Given the description of an element on the screen output the (x, y) to click on. 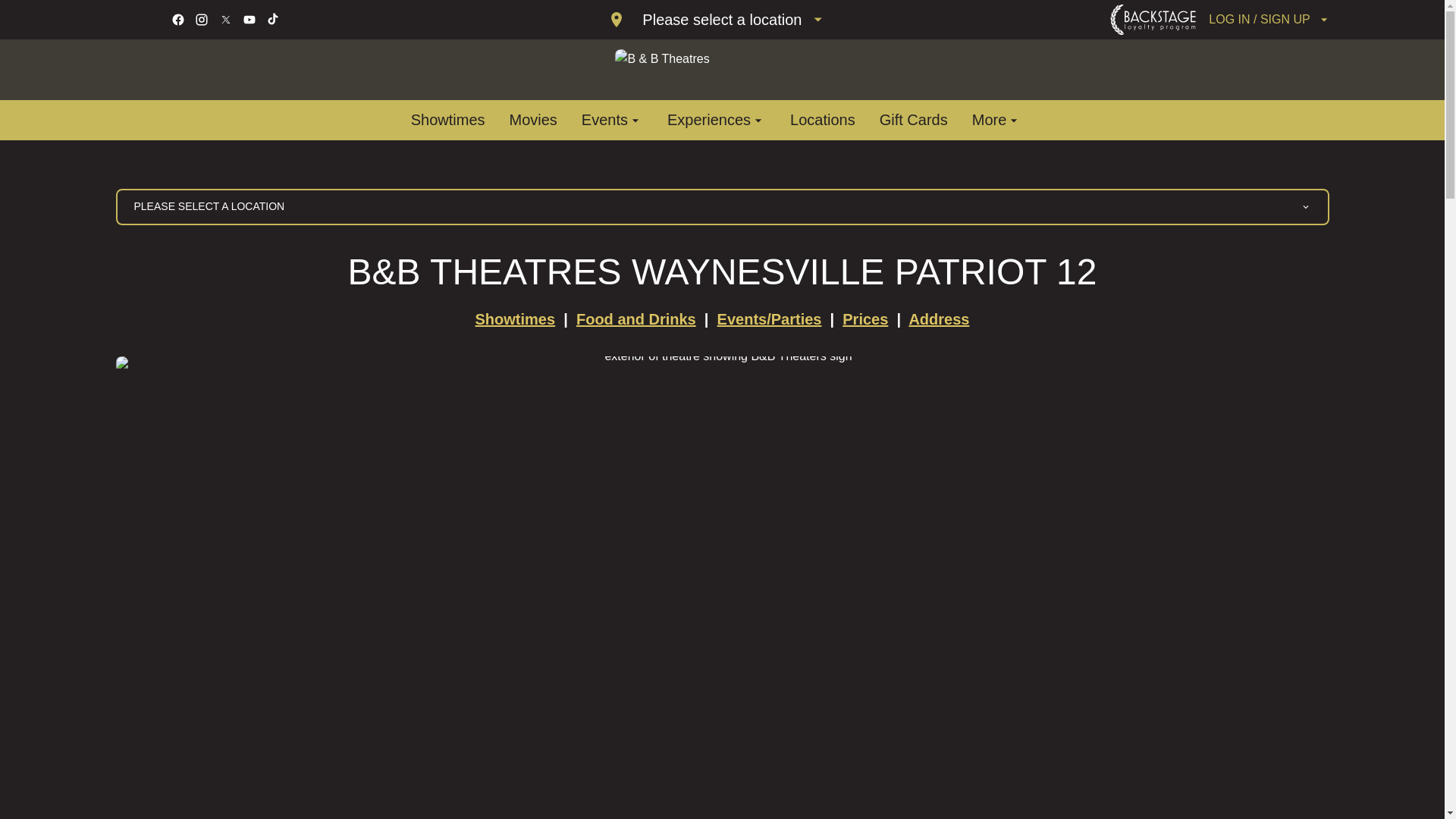
Please select a location (715, 19)
twitter (224, 19)
Gift Cards (913, 119)
More (997, 119)
instagram (201, 19)
Experiences (715, 119)
Prices (865, 319)
Address (938, 319)
Showtimes (447, 119)
Events (611, 119)
